Given the description of an element on the screen output the (x, y) to click on. 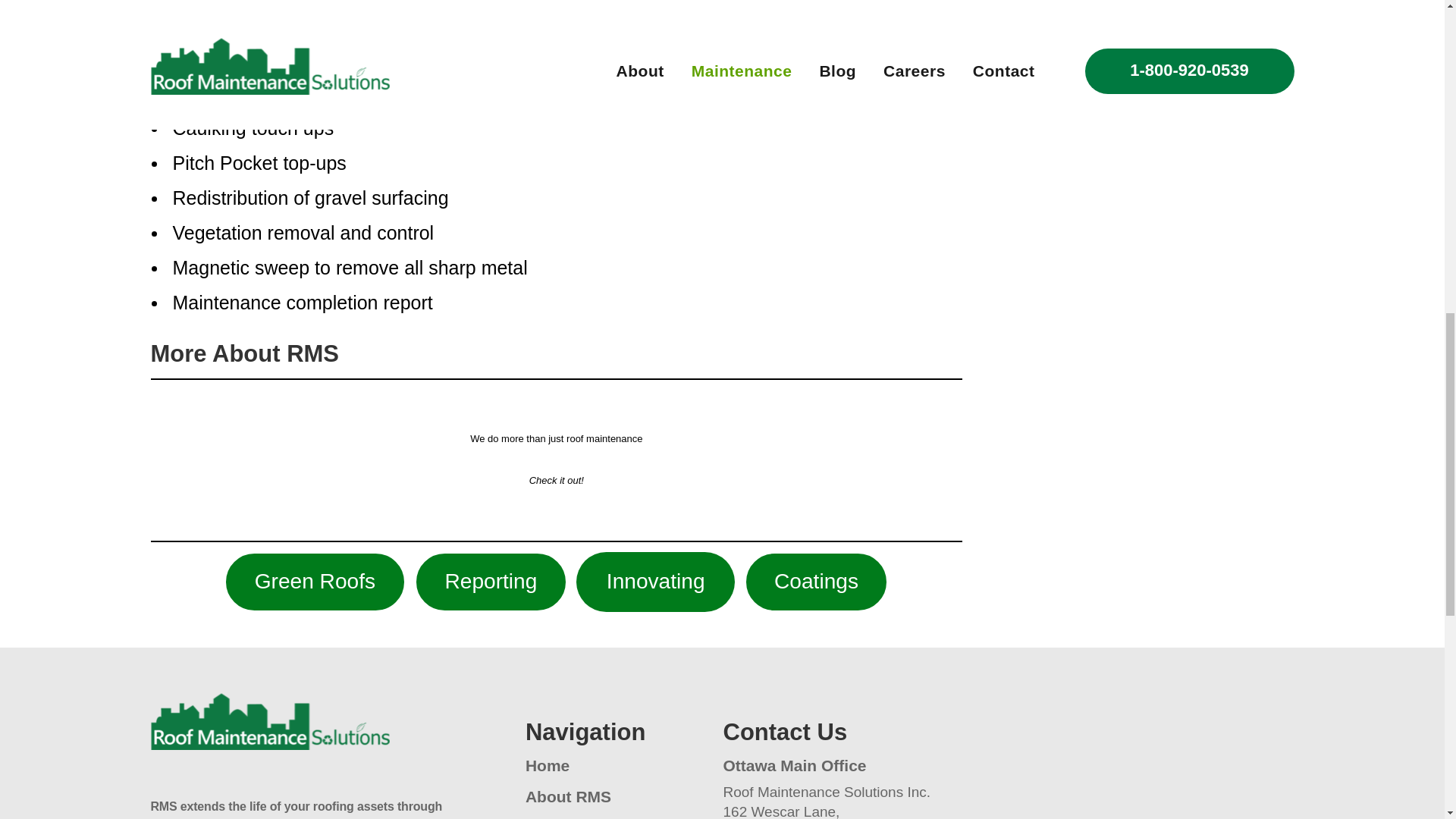
Green Roofs (314, 582)
Innovating (655, 582)
About RMS (568, 796)
Reporting (490, 582)
Coatings (816, 582)
Home (547, 764)
